Given the description of an element on the screen output the (x, y) to click on. 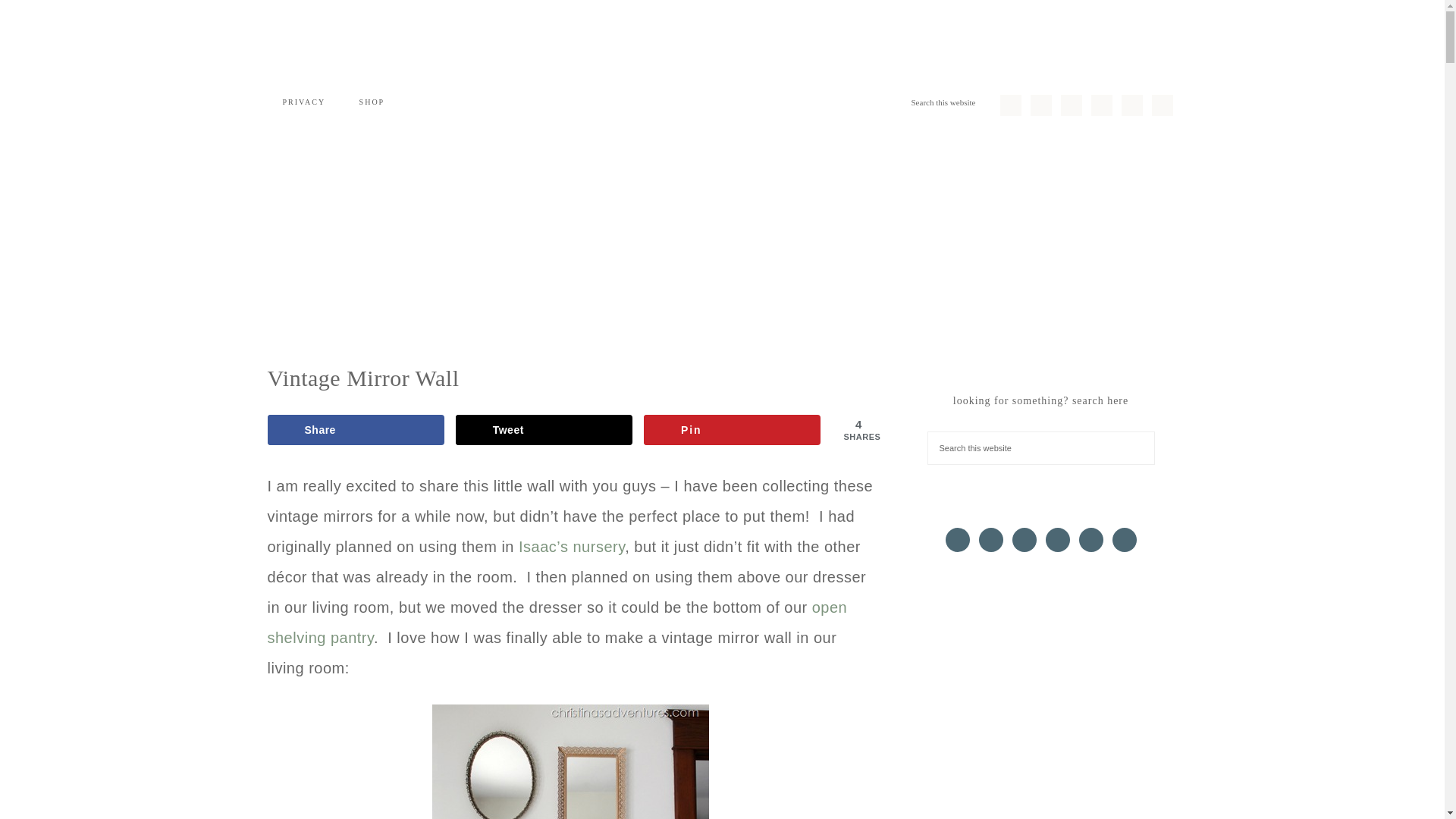
Share on X (544, 429)
Share (355, 429)
vintage mirrors  (570, 761)
Share on Facebook (355, 429)
PRIVACY (303, 102)
SHOP (371, 102)
Save to Pinterest (732, 429)
Tweet (544, 429)
open shelving pantry (556, 622)
Pin (732, 429)
